Given the description of an element on the screen output the (x, y) to click on. 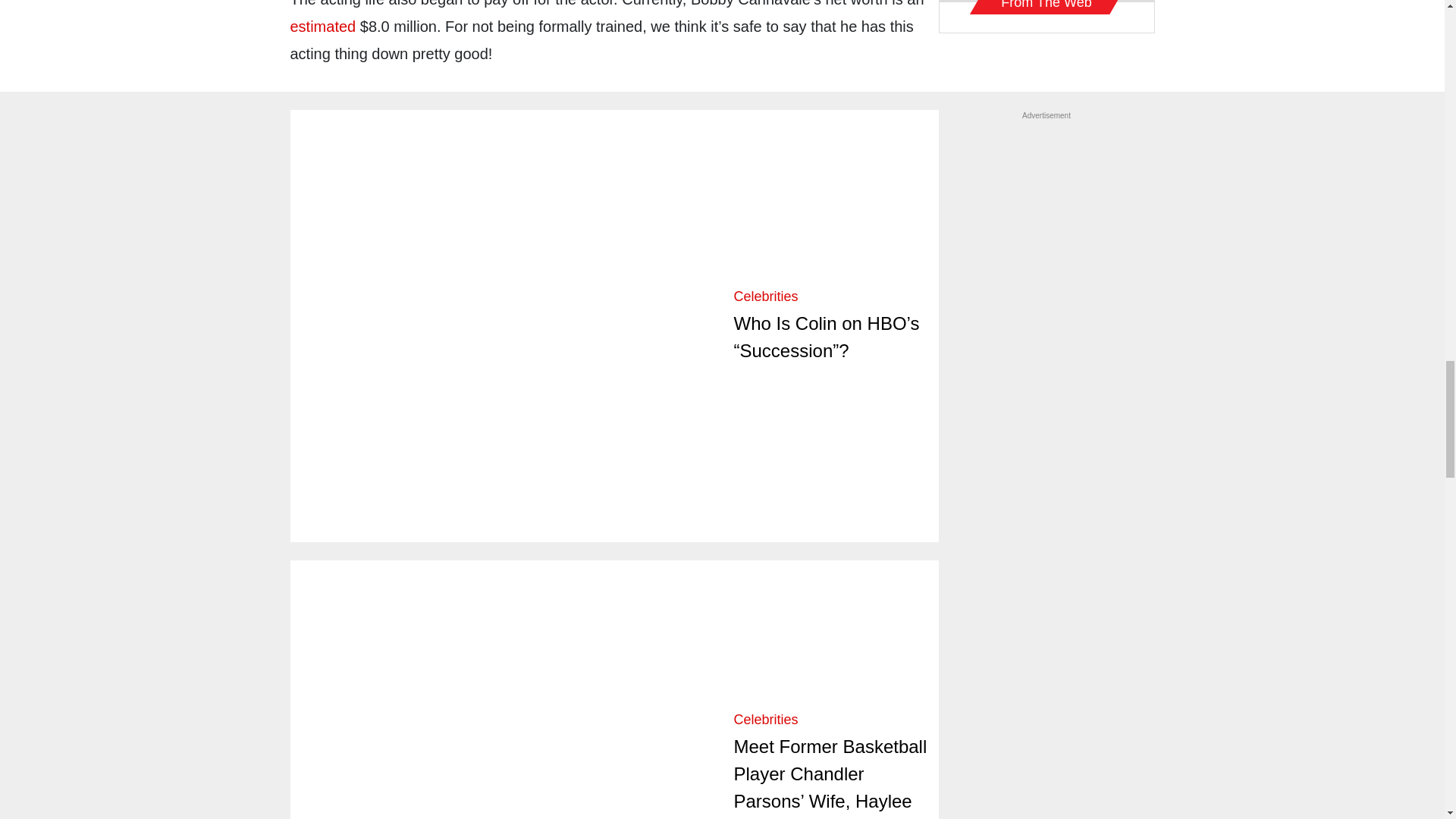
Category Name (765, 296)
estimated (322, 26)
Category Name (765, 719)
